Given the description of an element on the screen output the (x, y) to click on. 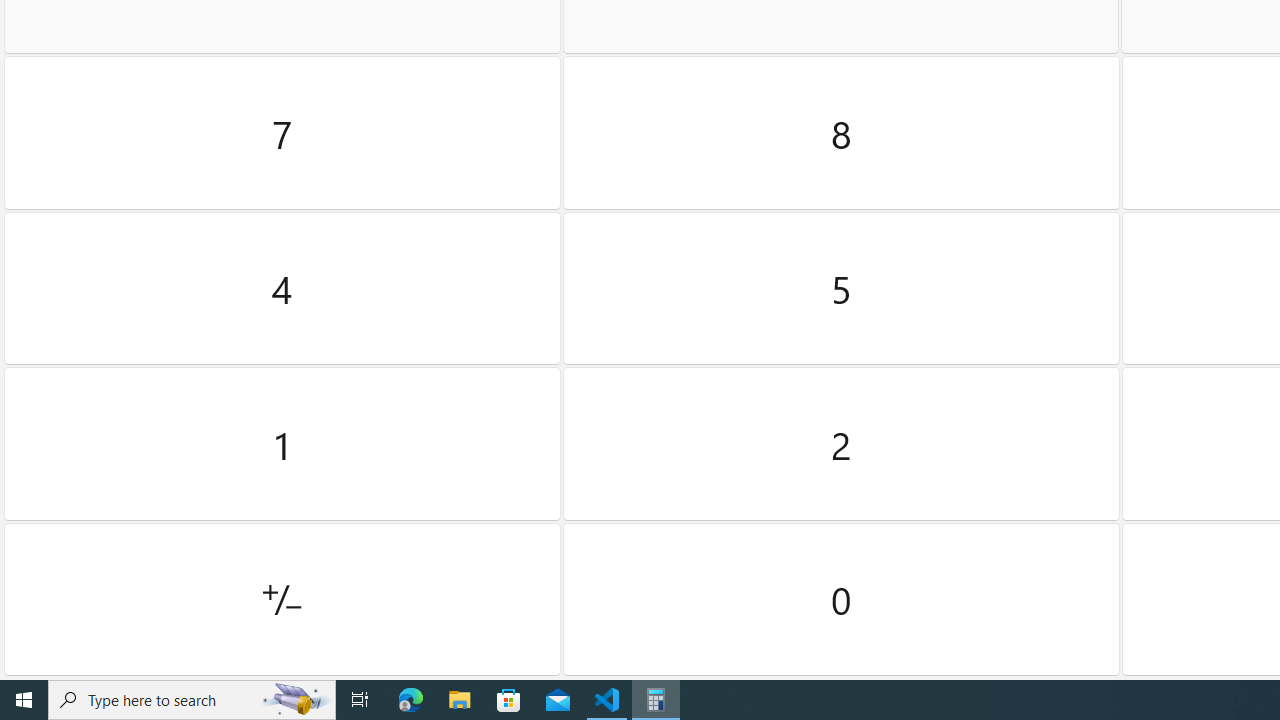
Four (281, 288)
Five (841, 288)
Microsoft Store (509, 699)
